Given the description of an element on the screen output the (x, y) to click on. 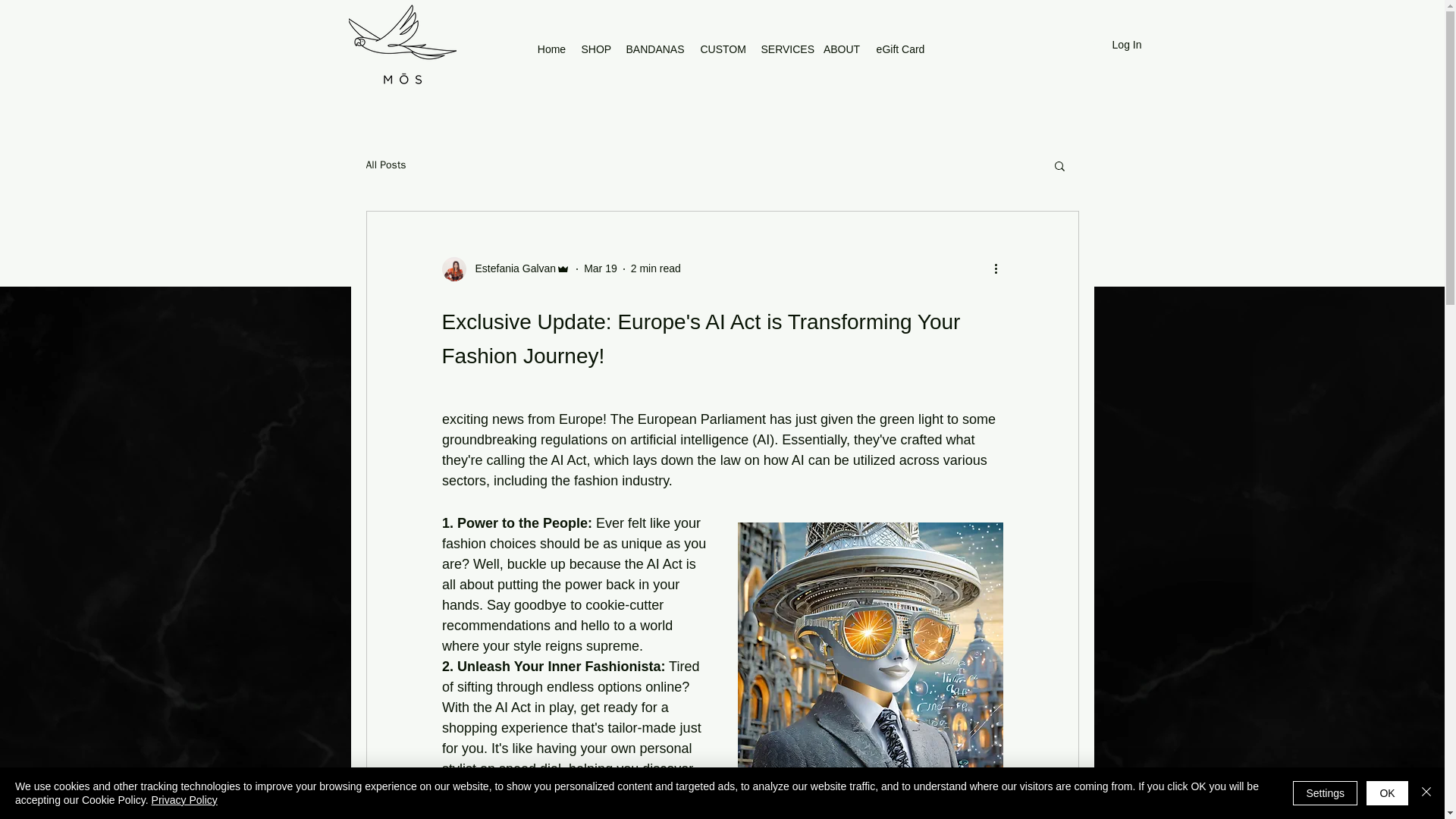
ABOUT (841, 48)
All Posts (385, 164)
Mar 19 (600, 268)
Home (551, 48)
SERVICES (784, 48)
Estefania Galvan (505, 269)
SHOP (595, 48)
Log In (1110, 45)
CUSTOM (723, 48)
2 min read (655, 268)
